Given the description of an element on the screen output the (x, y) to click on. 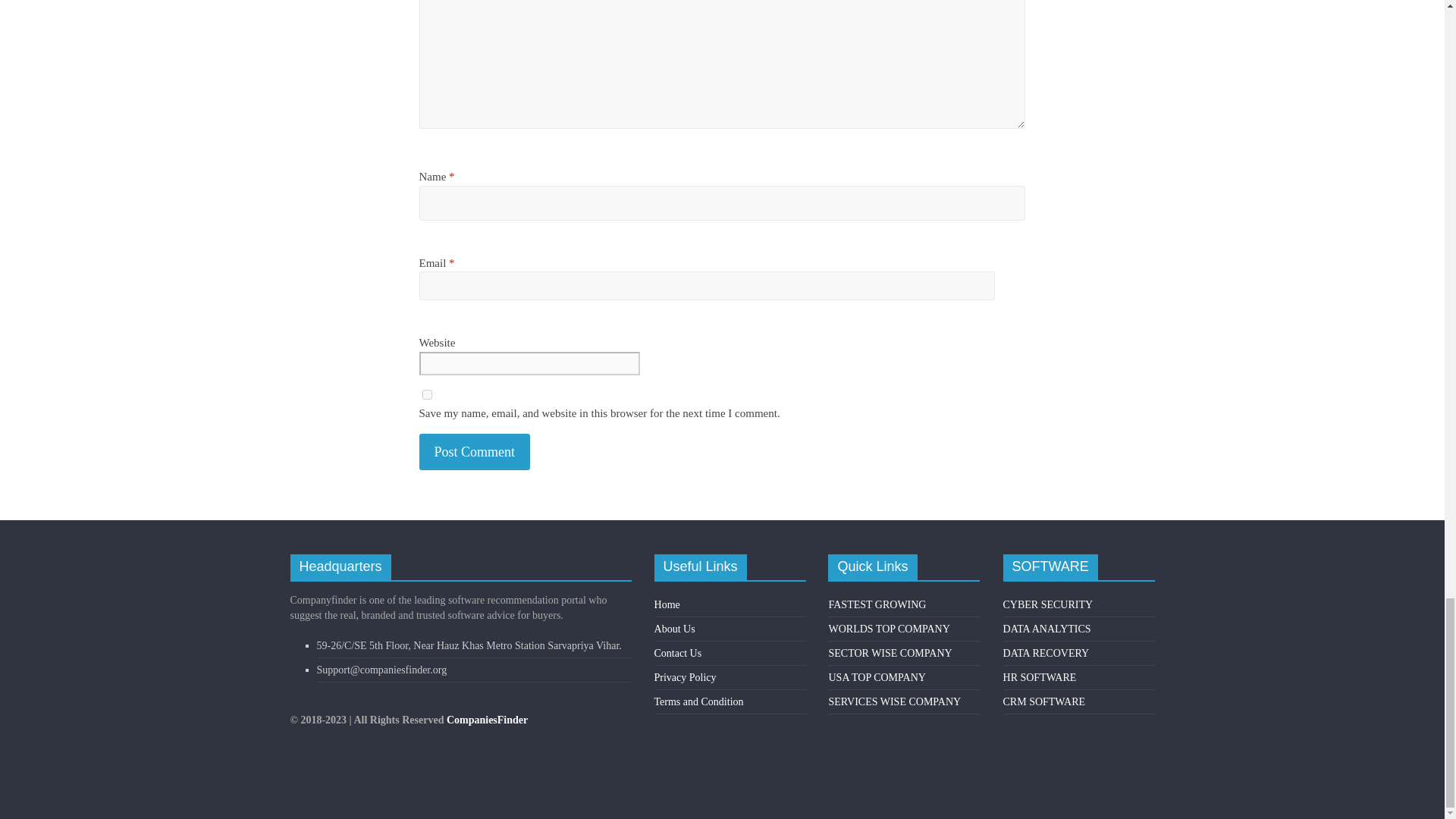
Post Comment (474, 452)
yes (426, 394)
